Given the description of an element on the screen output the (x, y) to click on. 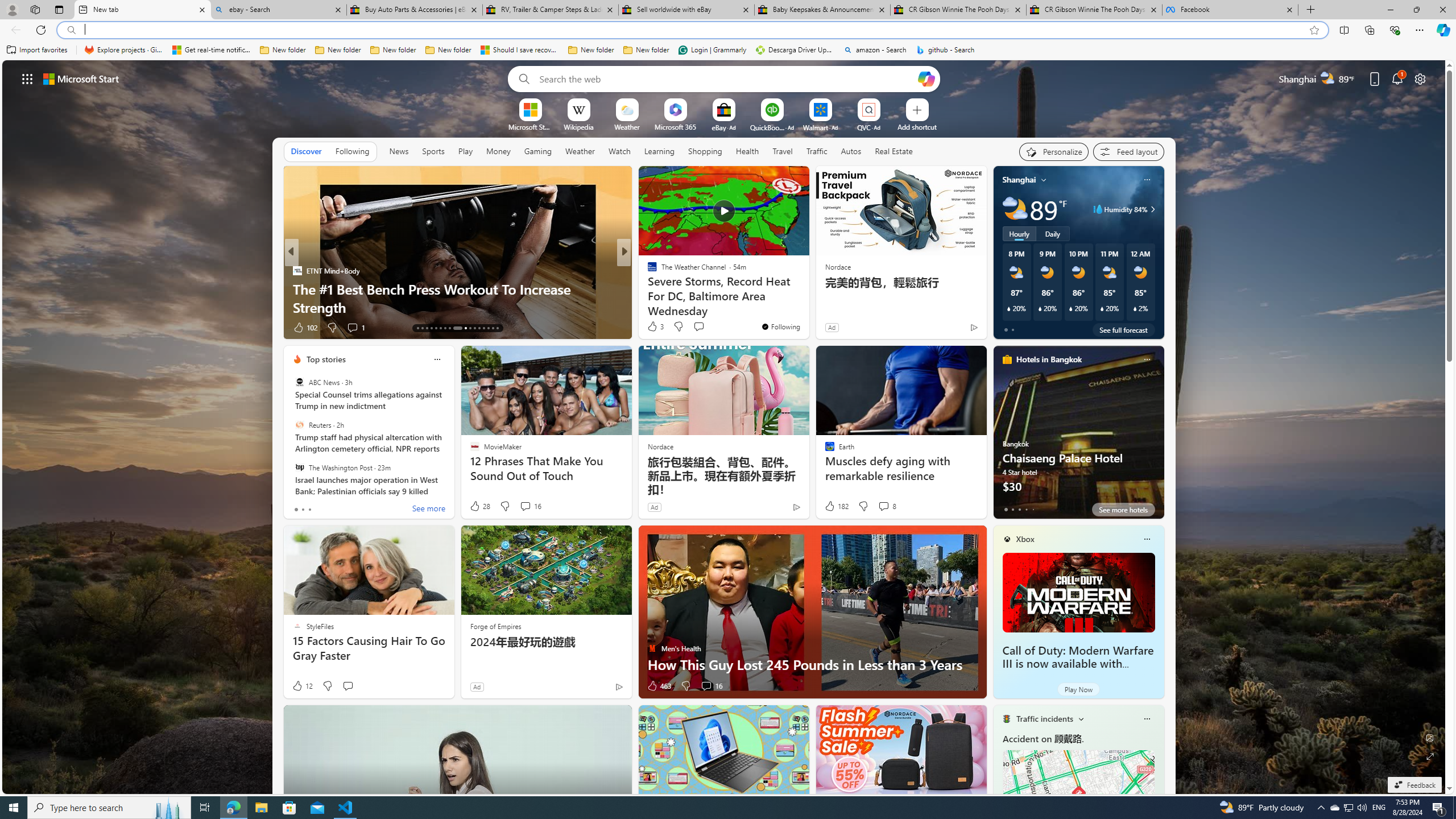
AutomationID: tab-13 (417, 328)
View comments 1 Comment (703, 327)
MUO (647, 288)
Expand background (1430, 756)
Feed settings (1128, 151)
Reuters (299, 424)
tab-2 (1019, 509)
Enter your search term (726, 78)
